Given the description of an element on the screen output the (x, y) to click on. 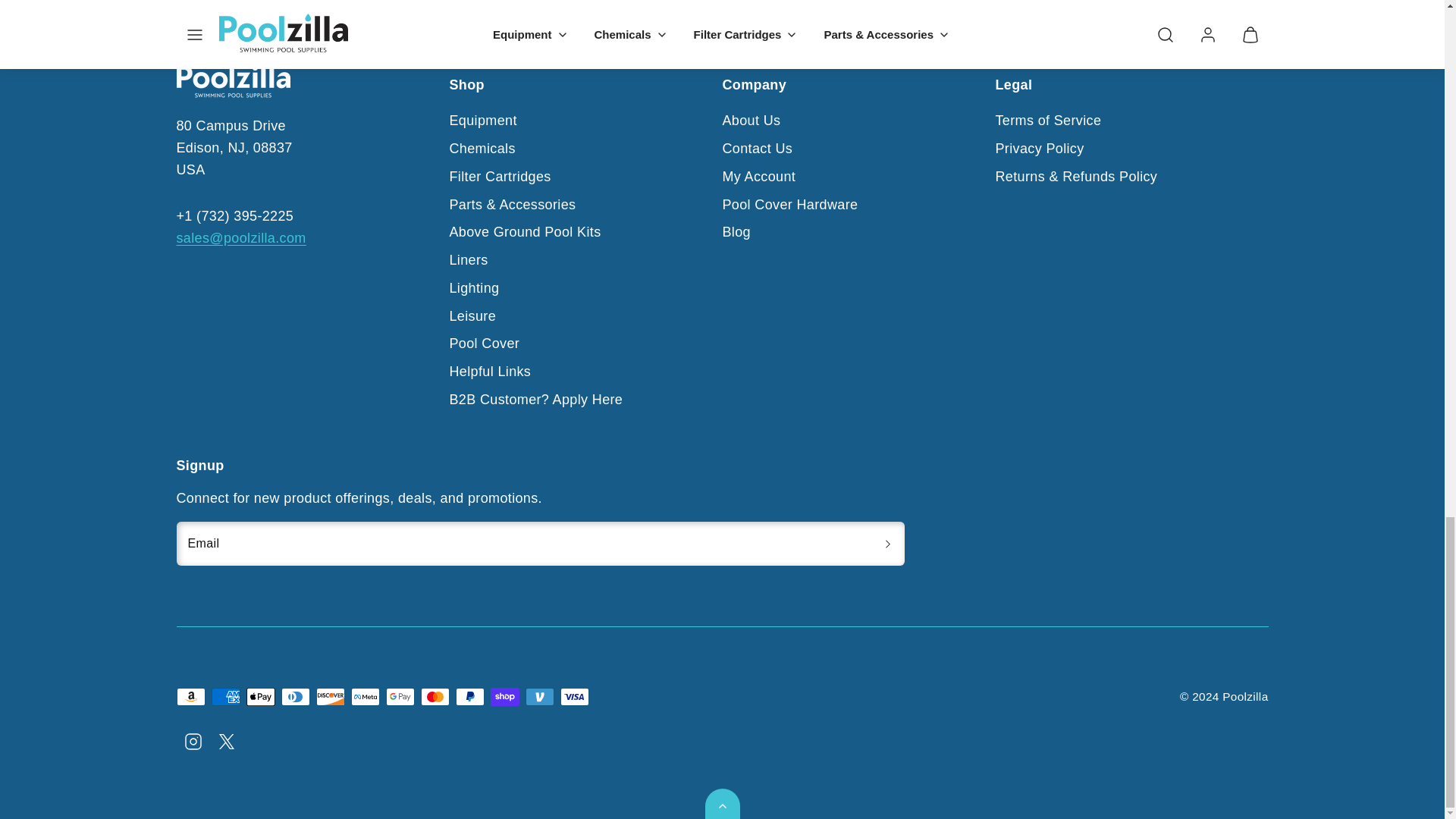
Apple Pay (260, 696)
Discover (329, 696)
Meta Pay (364, 696)
Amazon (190, 696)
Diners Club (294, 696)
American Express (225, 696)
Mastercard (434, 696)
Google Pay (399, 696)
